Given the description of an element on the screen output the (x, y) to click on. 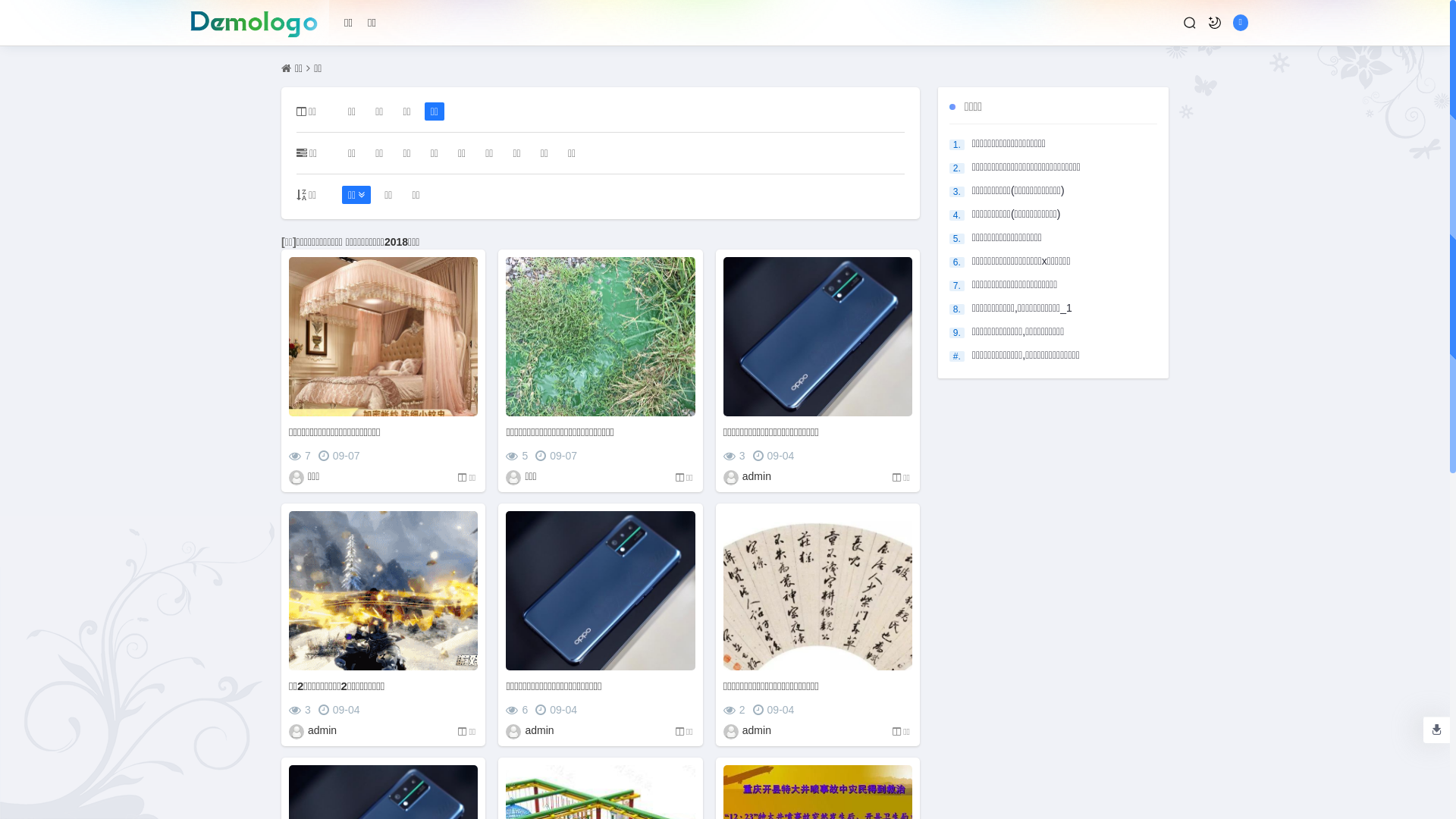
/zb_users/avatar/0.png Element type: hover (296, 731)
/zb_users/avatar/0.png Element type: hover (730, 477)
admin Element type: text (539, 730)
/zb_users/avatar/0.png Element type: hover (512, 477)
admin Element type: text (322, 730)
admin Element type: text (757, 476)
/zb_users/avatar/0.png Element type: hover (296, 477)
admin Element type: text (757, 730)
/zb_users/avatar/0.png Element type: hover (512, 731)
/zb_users/avatar/0.png Element type: hover (730, 731)
